Given the description of an element on the screen output the (x, y) to click on. 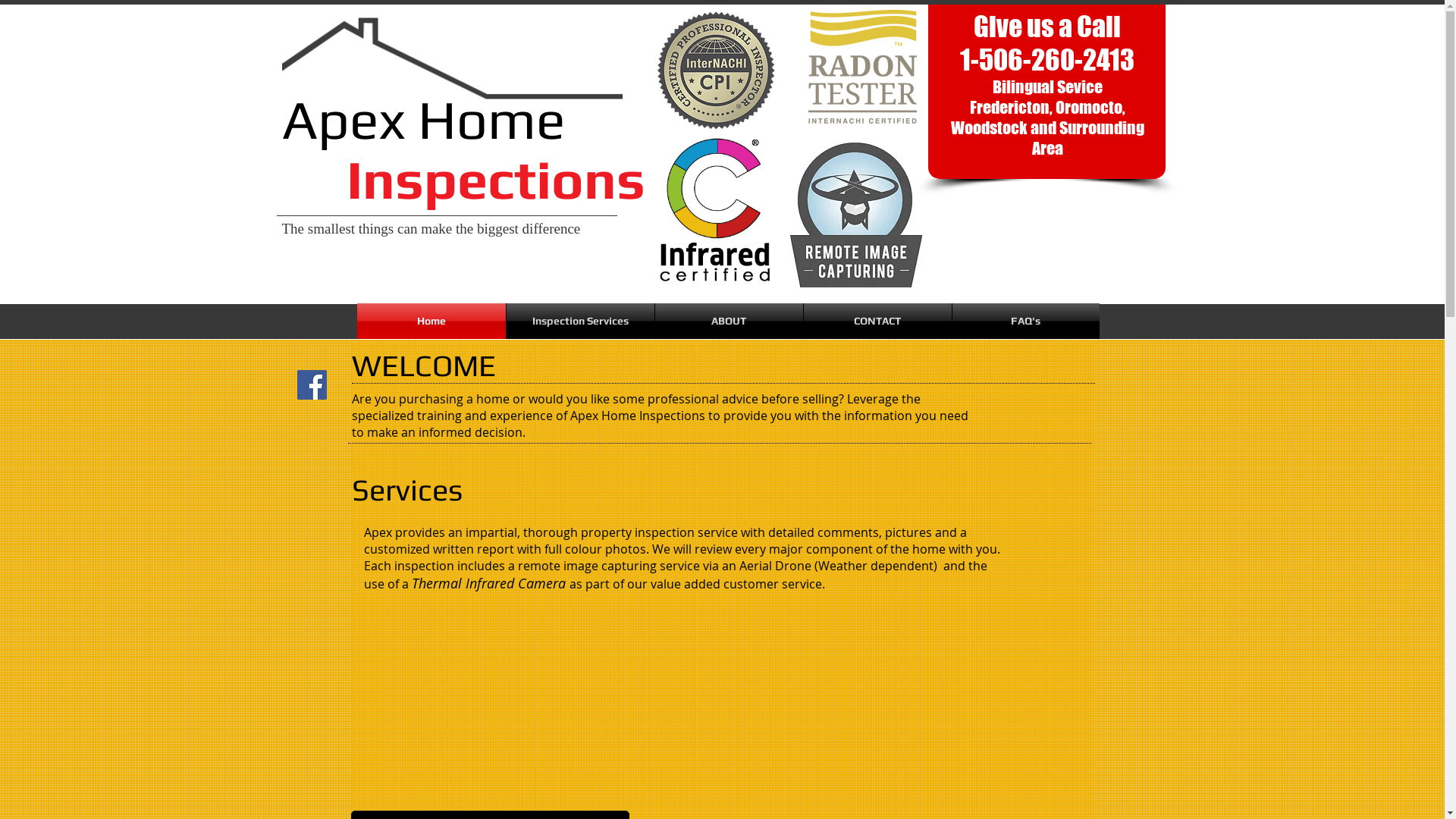
External YouTube Element type: hover (888, 705)
Inspection Services Element type: text (580, 320)
Home Element type: text (430, 320)
External YouTube Element type: hover (526, 705)
FAQ's Element type: text (1025, 320)
ABOUT Element type: text (729, 320)
CONTACT Element type: text (877, 320)
